Given the description of an element on the screen output the (x, y) to click on. 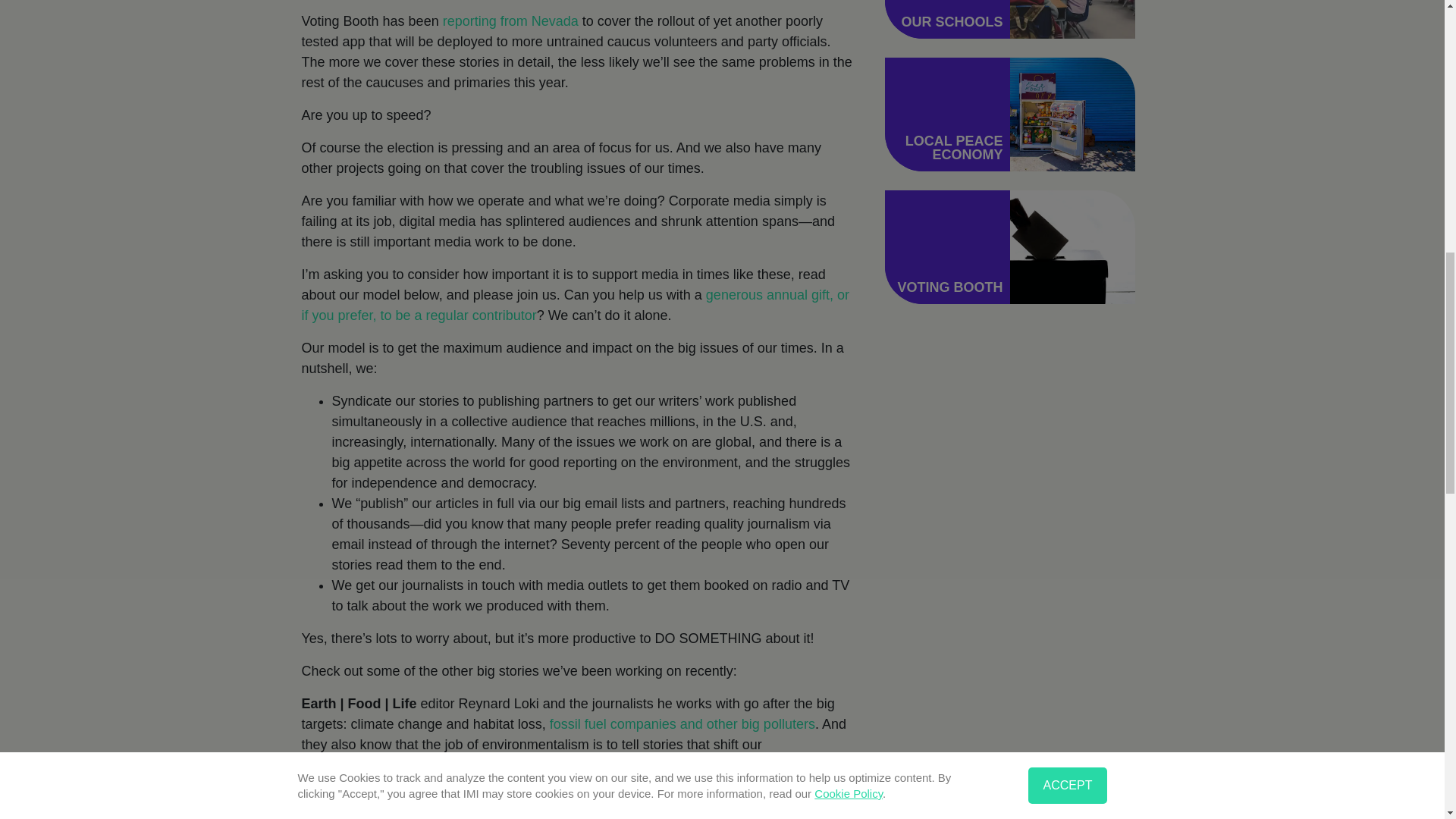
fossil fuel companies and other big polluters (682, 724)
VOTING BOOTH (949, 287)
LOCAL PEACE ECONOMY (954, 147)
OUR SCHOOLS (952, 21)
reporting from Nevada (510, 20)
